Given the description of an element on the screen output the (x, y) to click on. 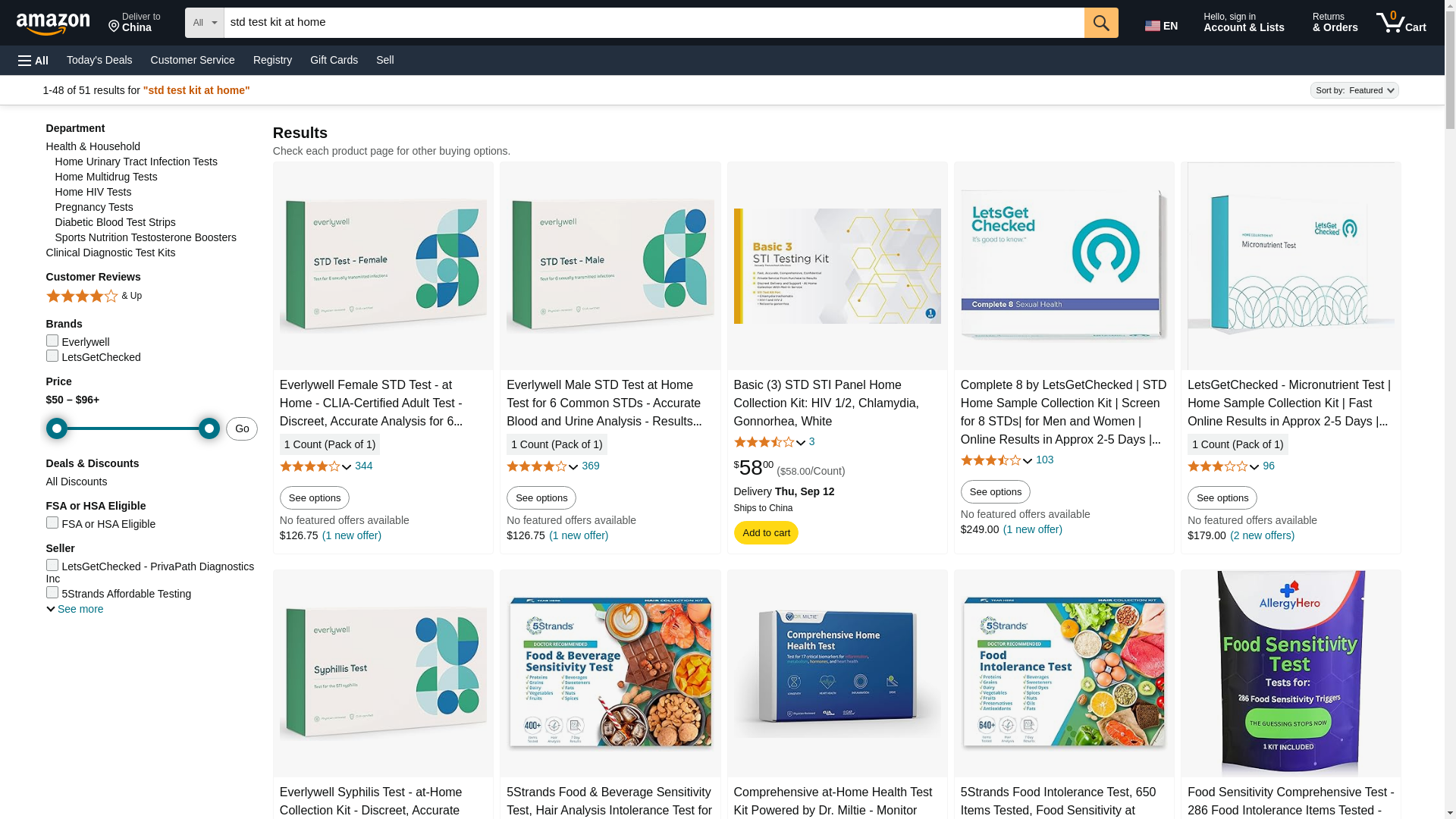
std test kit at home (654, 22)
EN (1163, 22)
See options (134, 22)
344 (540, 497)
Gift Cards (363, 466)
Skip to main content (333, 59)
